Given the description of an element on the screen output the (x, y) to click on. 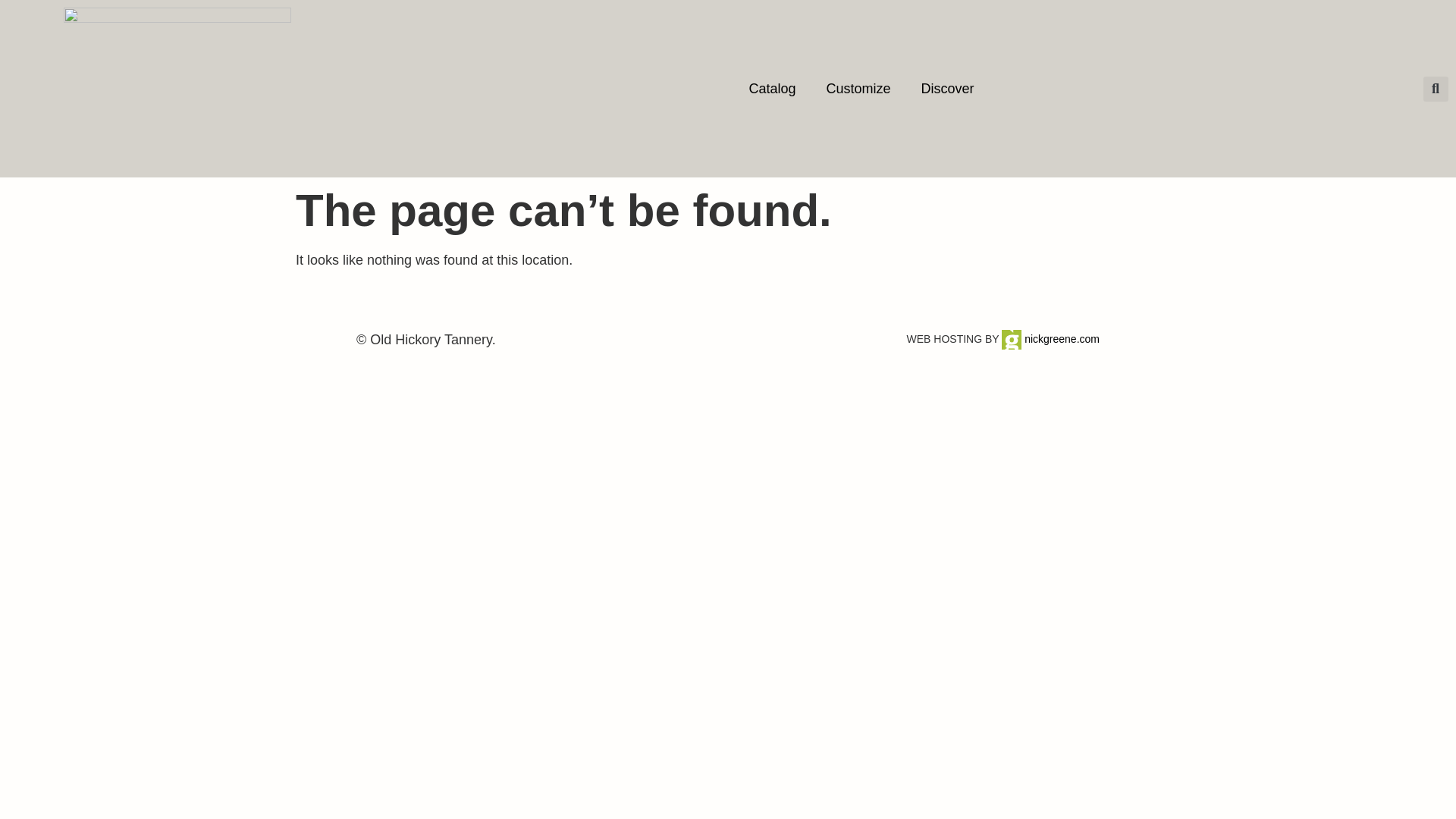
Customize (857, 88)
Catalog (771, 88)
